Given the description of an element on the screen output the (x, y) to click on. 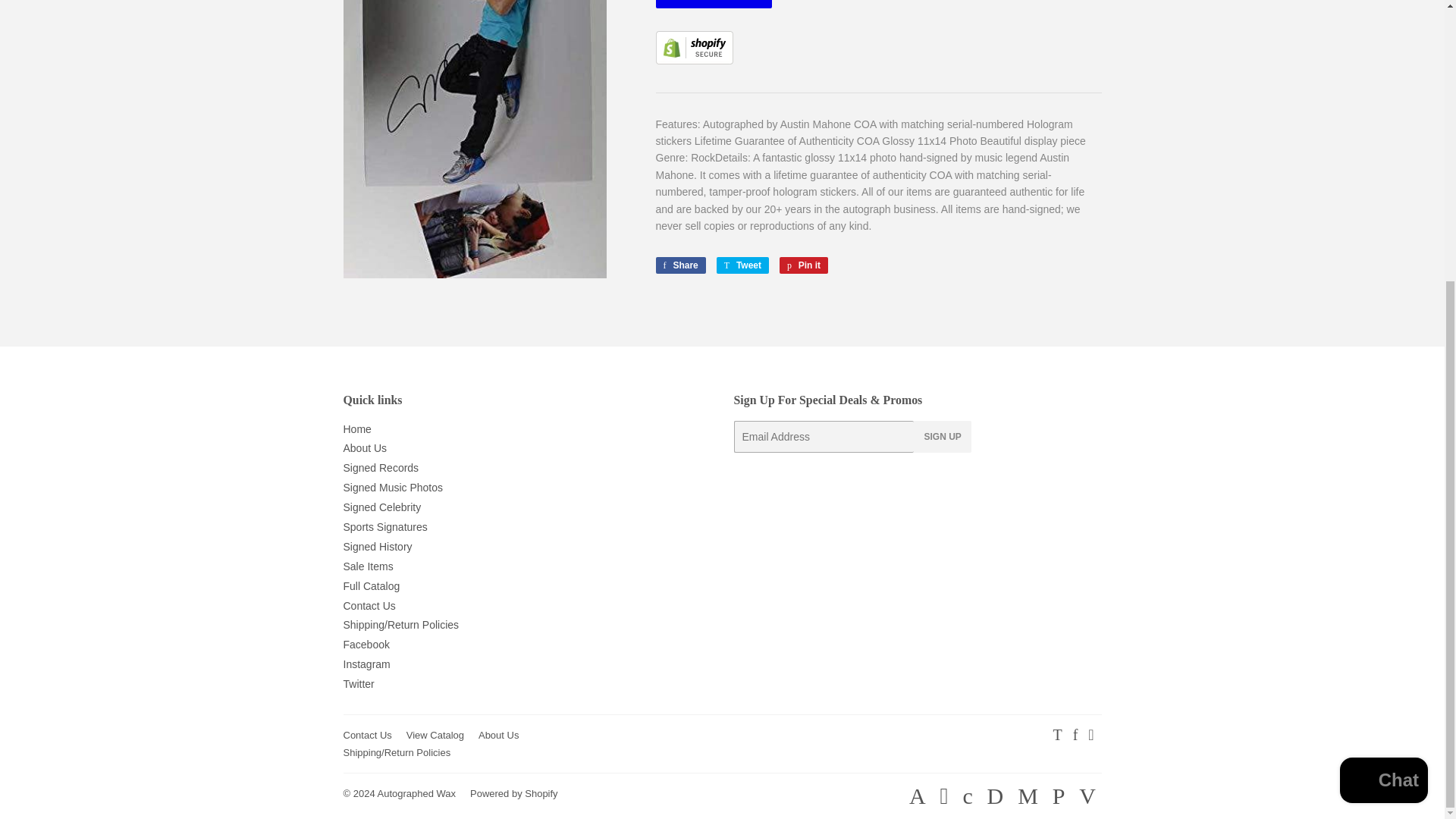
Signed Music Photos (742, 265)
Pin on Pinterest (392, 487)
Signed Records (803, 265)
This online store is secured by Shopify (380, 467)
Sale Items (679, 265)
ADD TO CART (693, 60)
Home (367, 566)
Share on Facebook (713, 4)
